Given the description of an element on the screen output the (x, y) to click on. 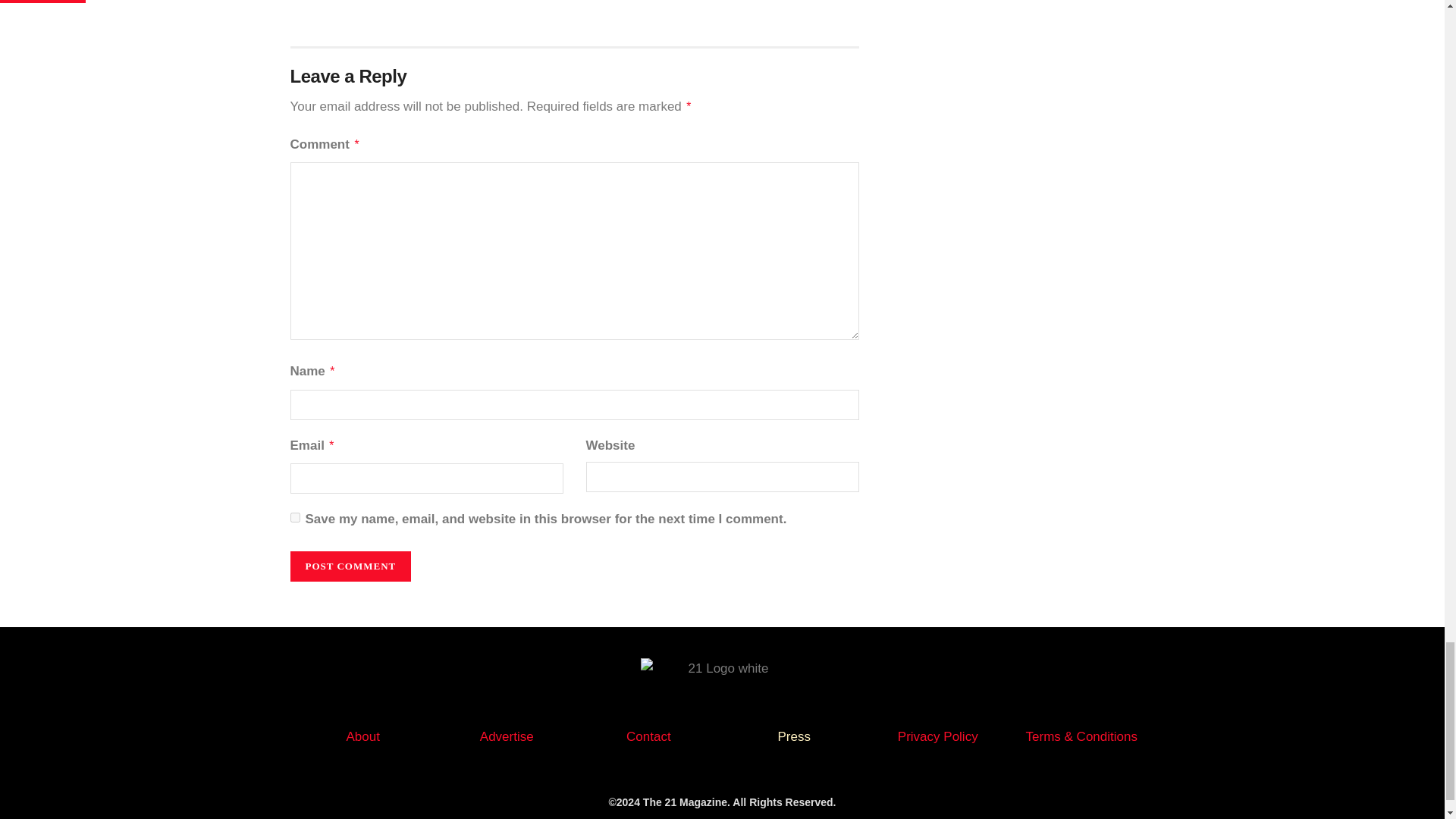
Post Comment (349, 566)
yes (294, 517)
